Given the description of an element on the screen output the (x, y) to click on. 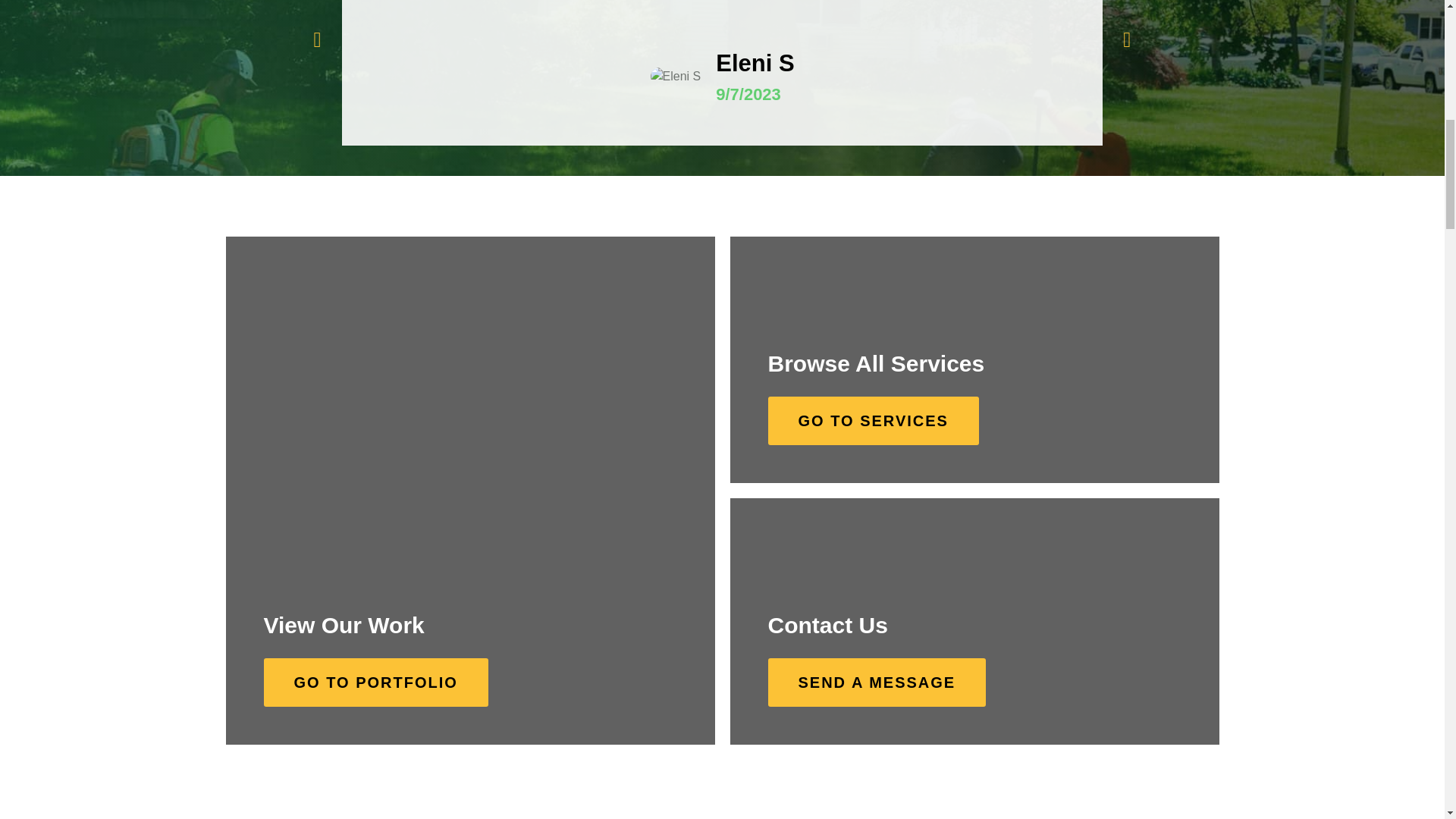
GO TO SERVICES (872, 420)
GO TO PORTFOLIO (375, 682)
SEND A MESSAGE (876, 682)
